Given the description of an element on the screen output the (x, y) to click on. 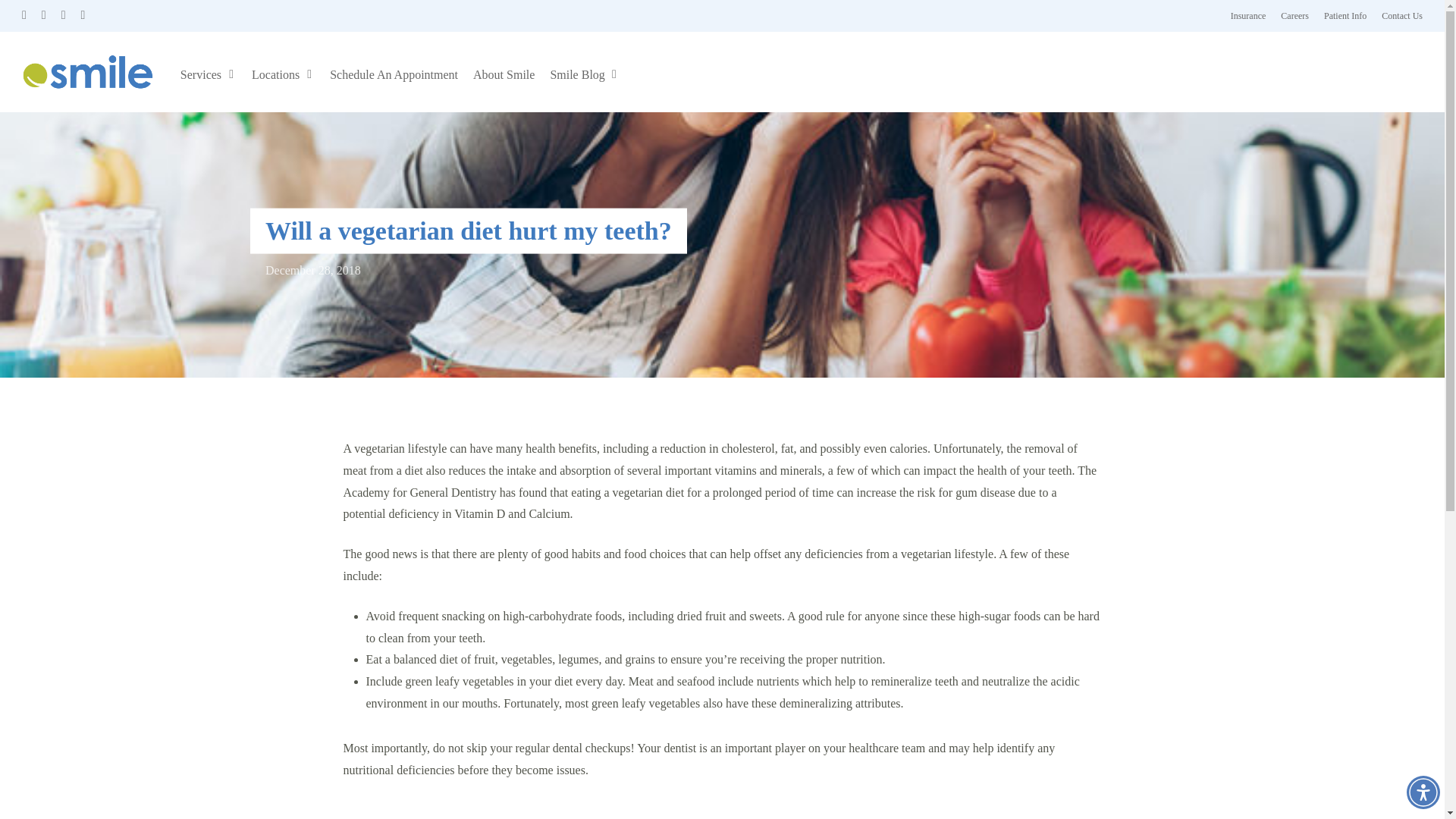
Insurance (1248, 15)
About Smile (503, 75)
Locations (282, 75)
Smile Blog (584, 75)
Schedule An Appointment (393, 75)
Patient Info (1345, 15)
Services (208, 75)
Contact Us (1401, 15)
Accessibility Menu (1422, 792)
Careers (1294, 15)
